Given the description of an element on the screen output the (x, y) to click on. 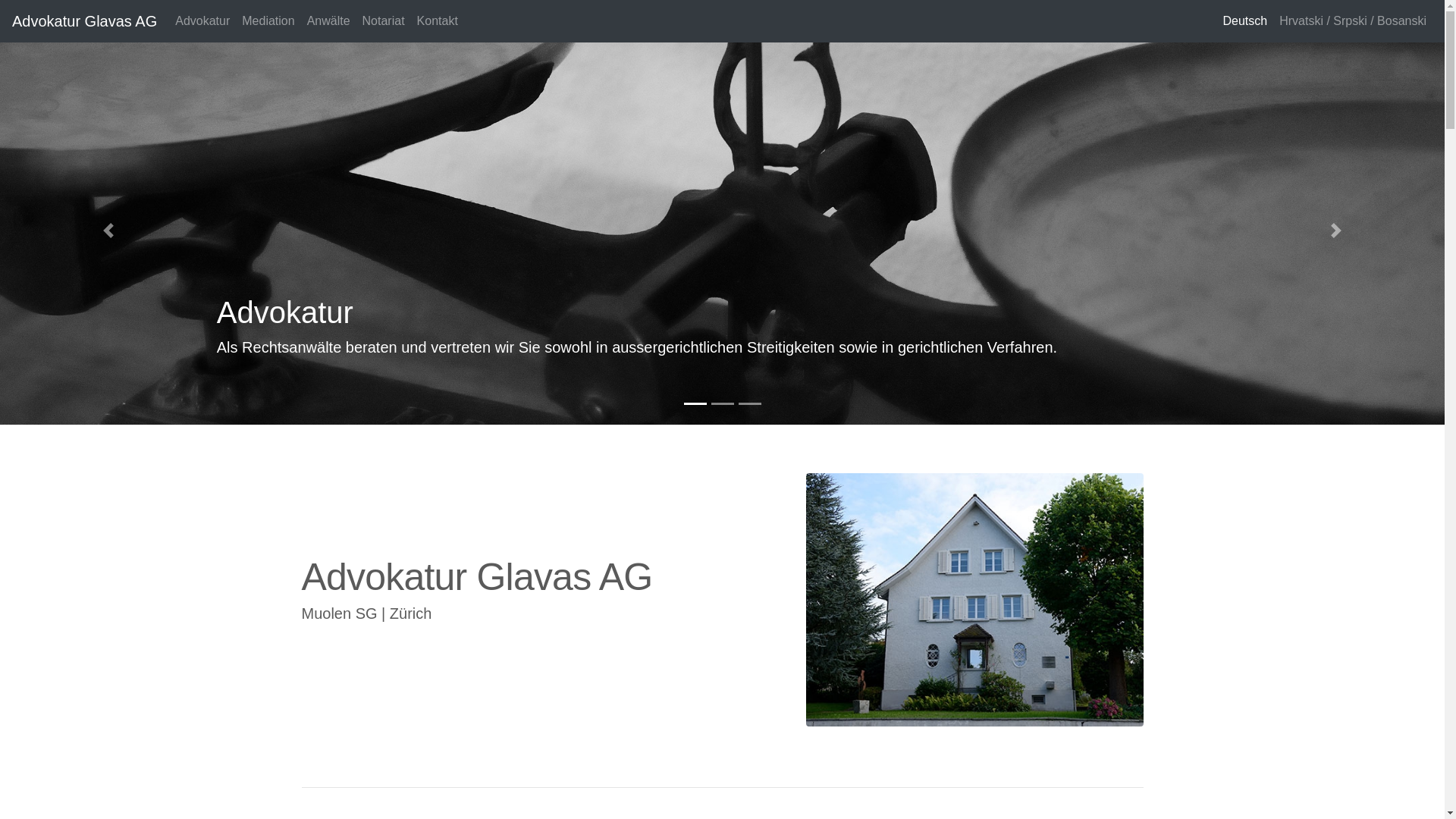
Notariat Element type: text (383, 21)
Advokatur Glavas AG Element type: text (84, 21)
Next Element type: text (1335, 230)
Hrvatski / Srpski / Bosanski Element type: text (1352, 21)
Mediation Element type: text (267, 21)
Previous Element type: text (108, 230)
Kontakt Element type: text (437, 21)
Advokatur Element type: text (202, 21)
Deutsch Element type: text (1244, 21)
